Given the description of an element on the screen output the (x, y) to click on. 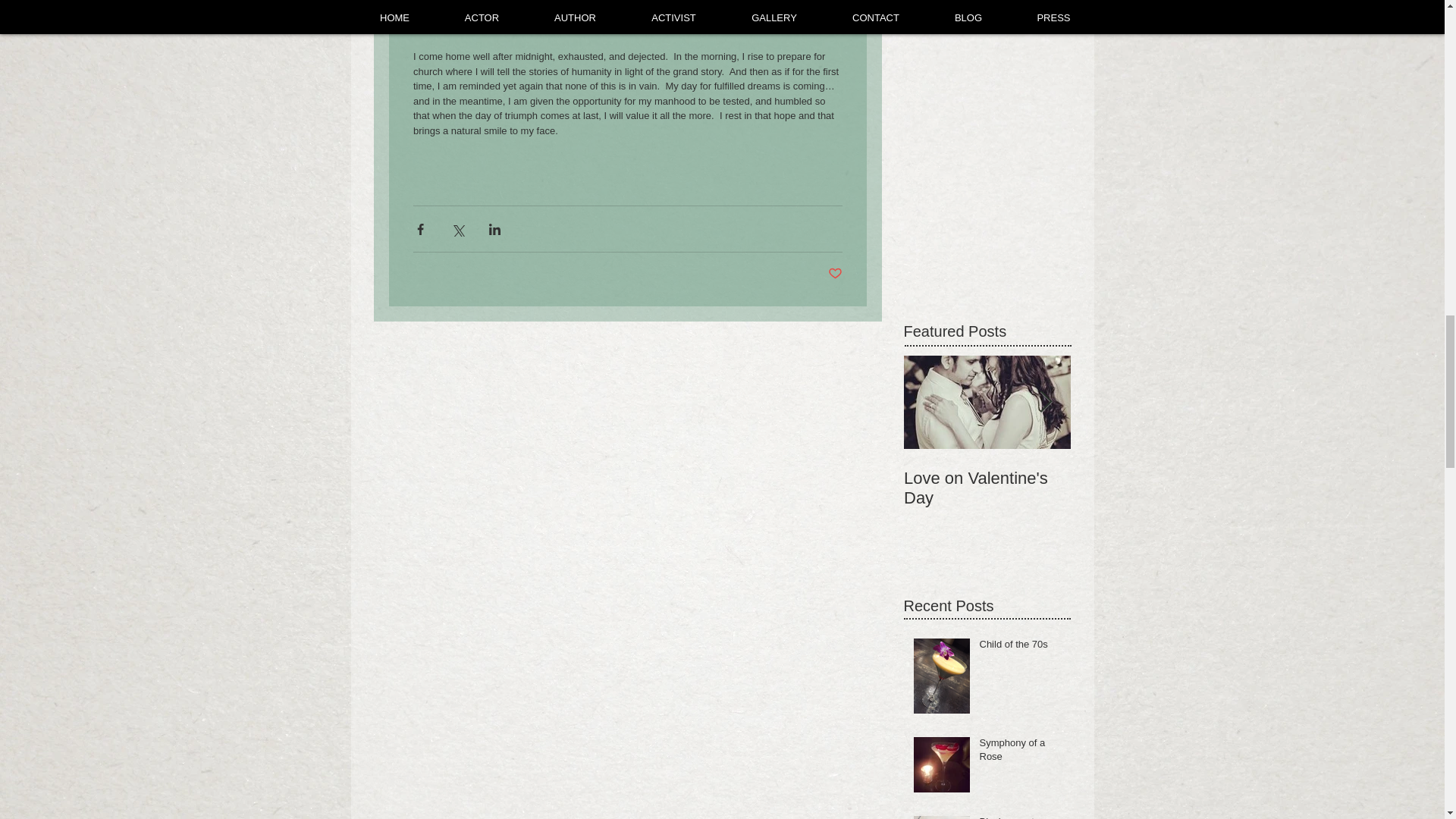
A New Day... (1153, 478)
Blackcurrant Fresca (1020, 816)
Post not marked as liked (835, 273)
Child of the 70s (1020, 647)
Love on Valentine's Day (987, 487)
Symphony of a Rose (1020, 752)
